Given the description of an element on the screen output the (x, y) to click on. 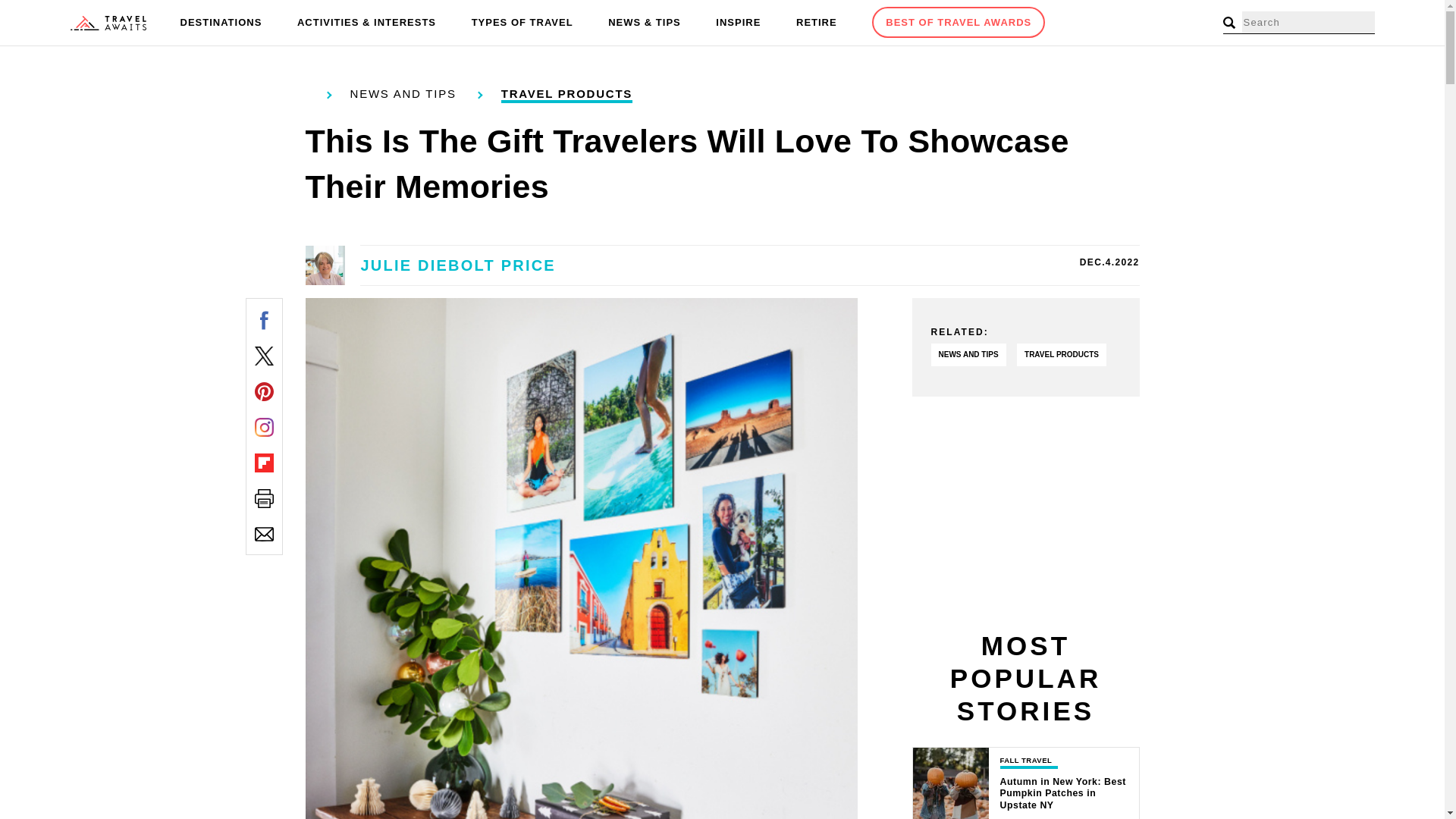
Instagram (263, 426)
Print (263, 497)
DESTINATIONS (221, 22)
Facebook (263, 320)
Email (263, 533)
Pinterest (263, 391)
Flipboard (263, 462)
TYPES OF TRAVEL (522, 22)
TravelAwaits (107, 22)
